Given the description of an element on the screen output the (x, y) to click on. 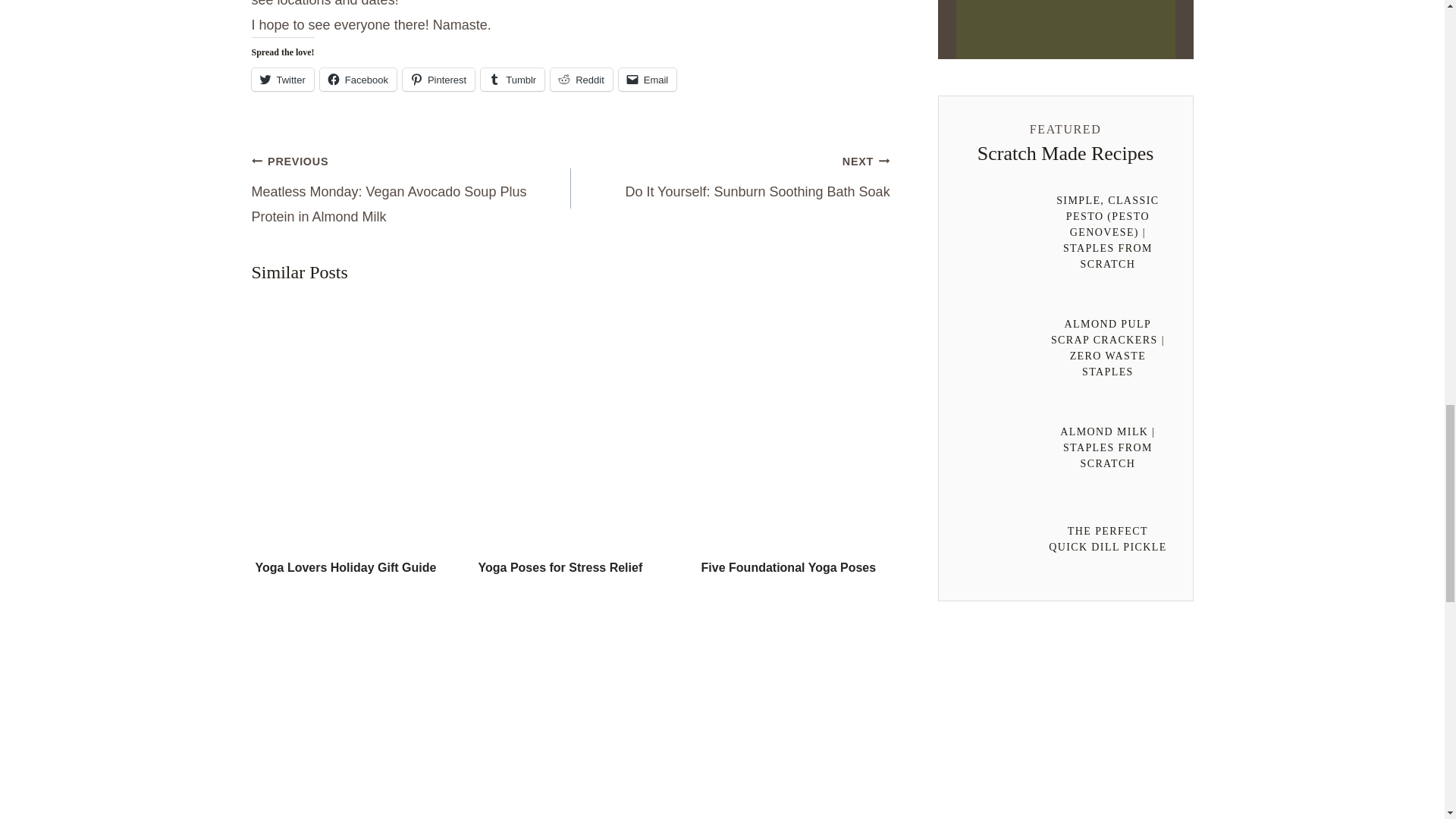
Click to share on Facebook (358, 78)
Click to share on Twitter (282, 78)
Click to share on Tumblr (512, 78)
Click to share on Pinterest (438, 78)
